Given the description of an element on the screen output the (x, y) to click on. 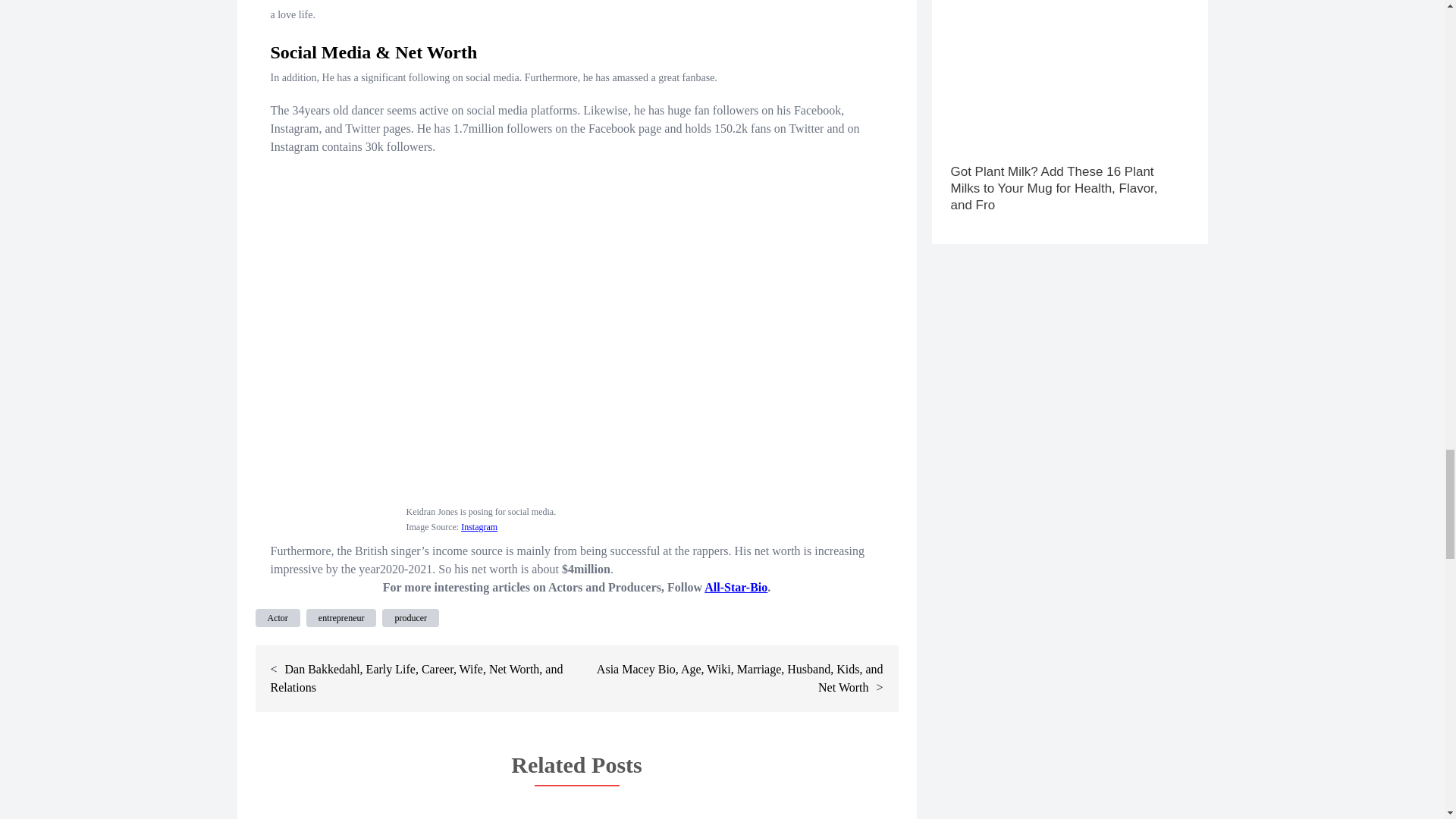
Instagram (479, 526)
All-Star-Bio (735, 586)
producer (410, 618)
Actor (276, 618)
entrepreneur (341, 618)
